Given the description of an element on the screen output the (x, y) to click on. 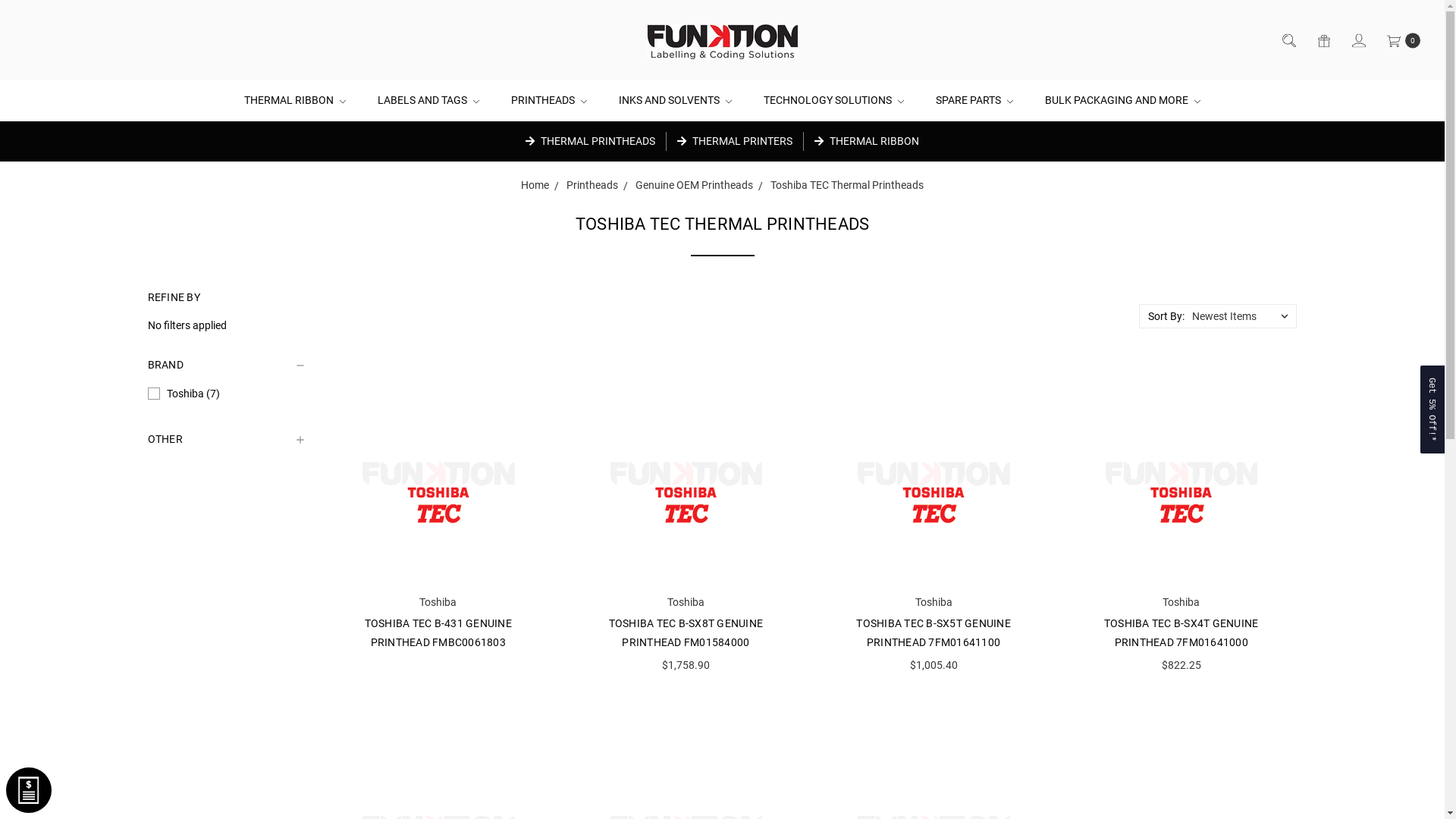
Toshiba Printheads Element type: hover (686, 481)
BULK PACKAGING AND MORE Element type: text (1122, 100)
Toshiba Printheads Element type: hover (933, 481)
THERMAL PRINTHEADS Element type: text (590, 140)
TOSHIBA TEC B-SX5T GENUINE PRINTHEAD 7FM01641100 Element type: text (933, 632)
THERMAL PRINTERS Element type: text (734, 140)
SPARE PARTS Element type: text (974, 100)
Home Element type: text (534, 184)
0 Element type: text (1402, 40)
Genuine OEM Printheads Element type: text (694, 184)
THERMAL RIBBON Element type: text (866, 140)
Toshiba Printheads Element type: hover (1181, 481)
Toshiba Printheads Element type: hover (438, 481)
TECHNOLOGY SOLUTIONS Element type: text (833, 100)
THERMAL RIBBON Element type: text (294, 100)
Printheads Element type: text (592, 184)
Toshiba TEC Thermal Printheads Element type: text (846, 184)
PRINTHEADS Element type: text (548, 100)
Toshiba (7) Element type: text (226, 393)
TOSHIBA TEC B-SX4T GENUINE PRINTHEAD 7FM01641000 Element type: text (1181, 632)
TOSHIBA TEC B-431 GENUINE PRINTHEAD FMBC0061803 Element type: text (437, 632)
Funktion Australia | Printing & Labelling Element type: hover (721, 41)
LABELS AND TAGS Element type: text (428, 100)
TOSHIBA TEC B-SX8T GENUINE PRINTHEAD FM01584000 Element type: text (685, 632)
INKS AND SOLVENTS Element type: text (674, 100)
